Given the description of an element on the screen output the (x, y) to click on. 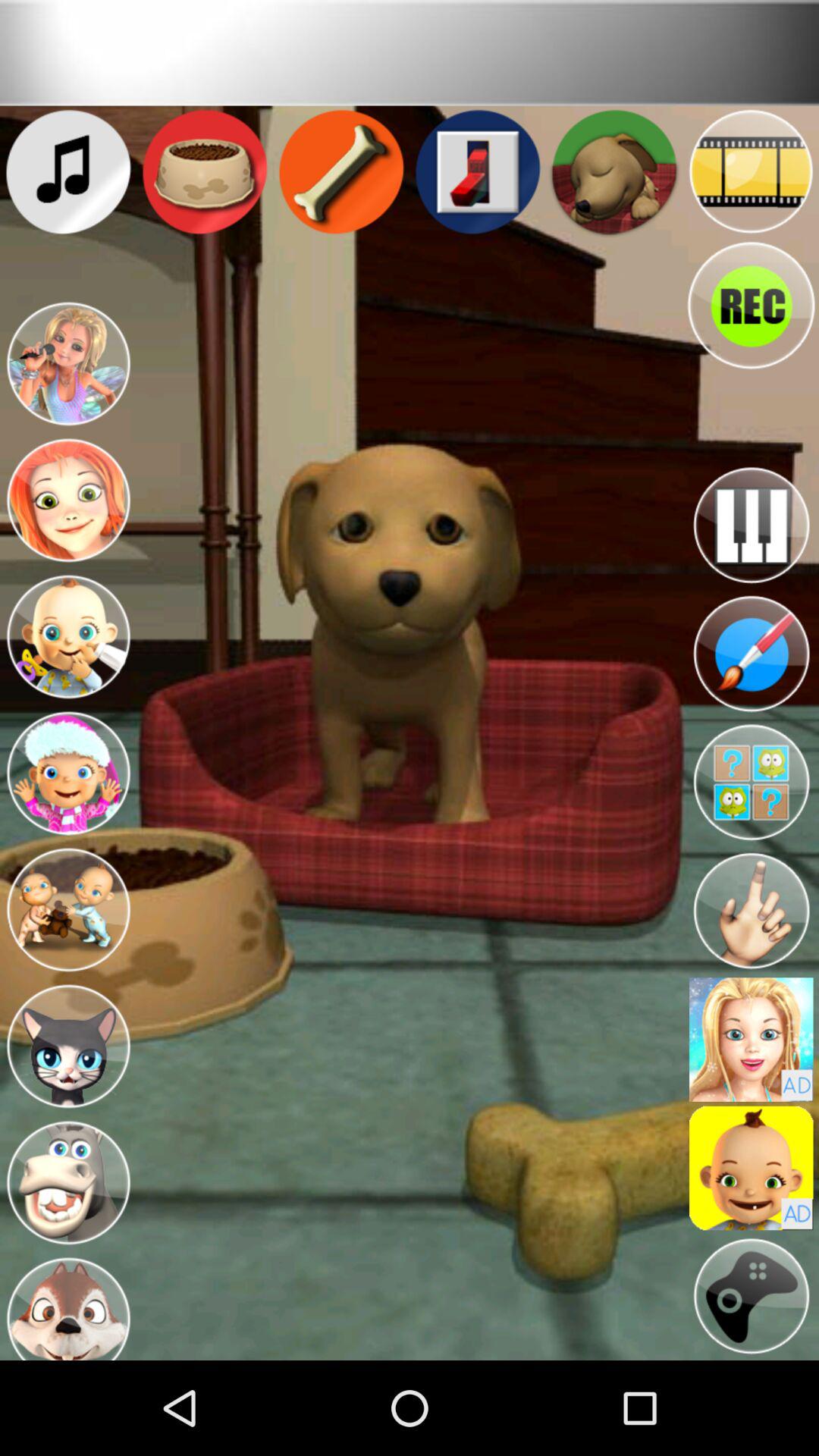
play button (751, 1296)
